Given the description of an element on the screen output the (x, y) to click on. 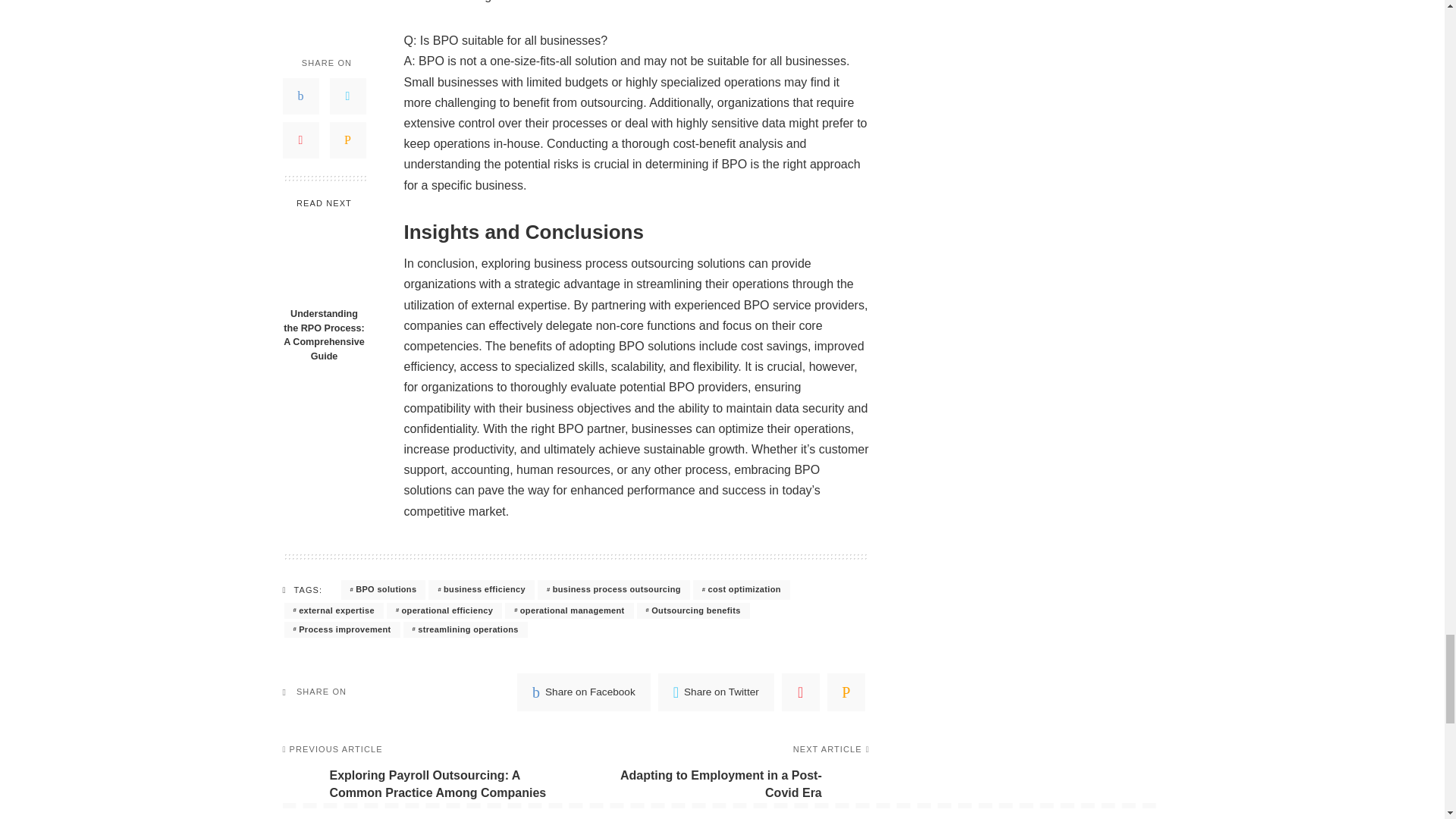
business process outsourcing (613, 589)
Share on Twitter (716, 692)
external expertise (332, 610)
BPO solutions (383, 589)
streamlining operations (465, 629)
operational efficiency (444, 610)
Process improvement (340, 629)
cost optimization (741, 589)
cost optimization (741, 589)
business efficiency (481, 589)
